Given the description of an element on the screen output the (x, y) to click on. 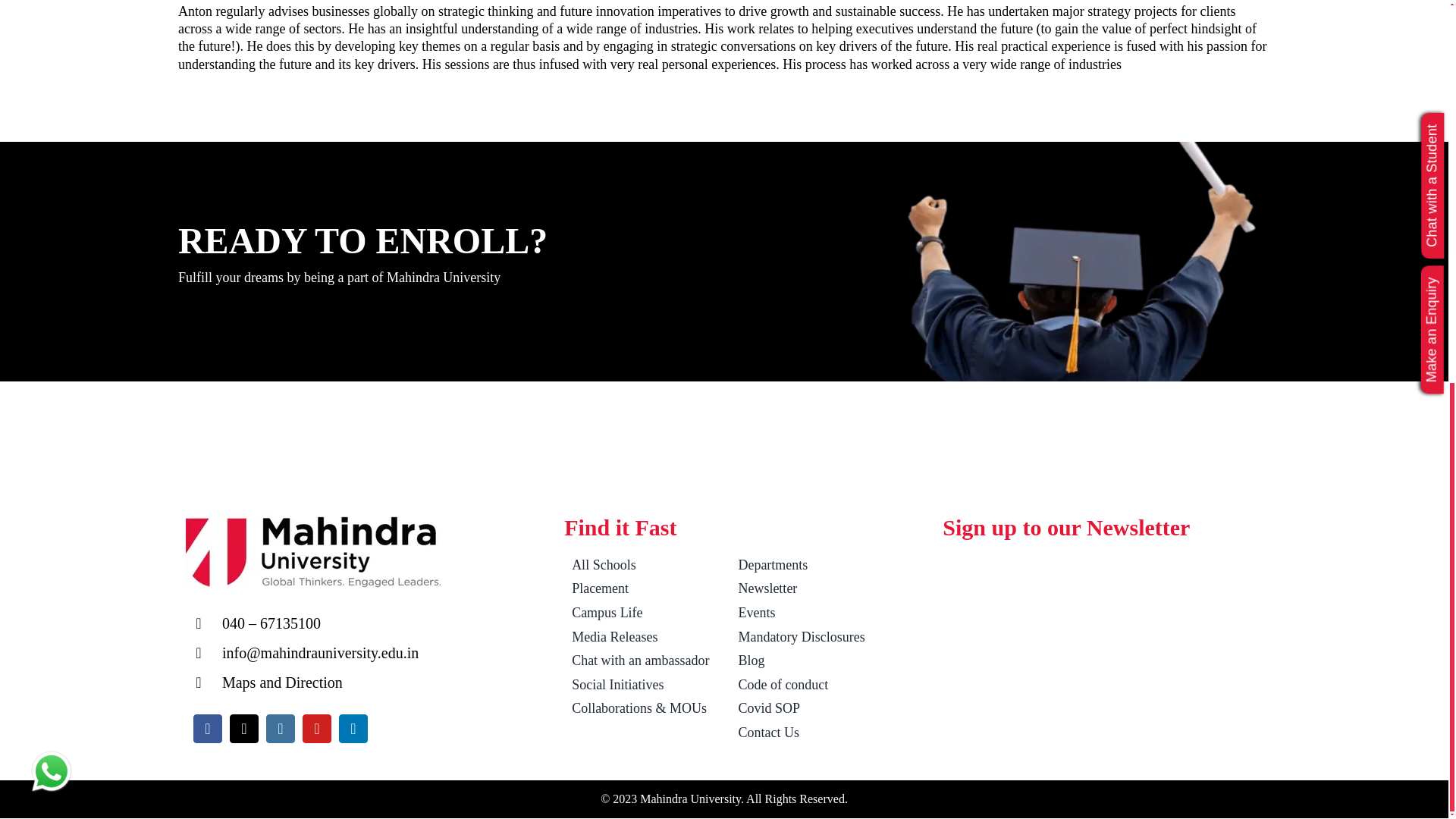
Instagram (280, 728)
LinkedIn (353, 728)
Facebook (207, 728)
X (244, 728)
YouTube (316, 728)
